Given the description of an element on the screen output the (x, y) to click on. 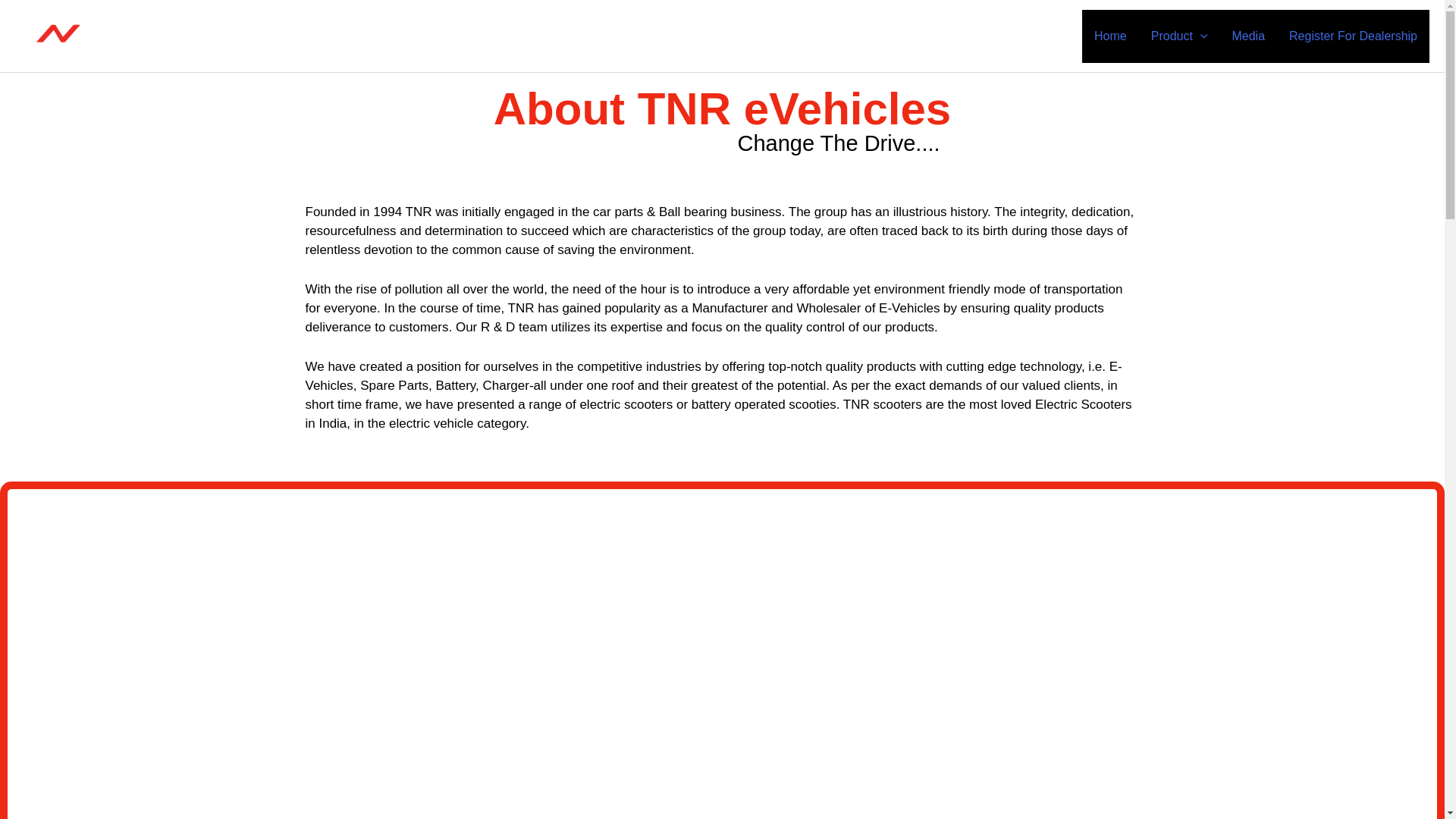
Register For Dealership (1352, 35)
Media (1248, 35)
Product (1179, 35)
Home (1109, 35)
